Given the description of an element on the screen output the (x, y) to click on. 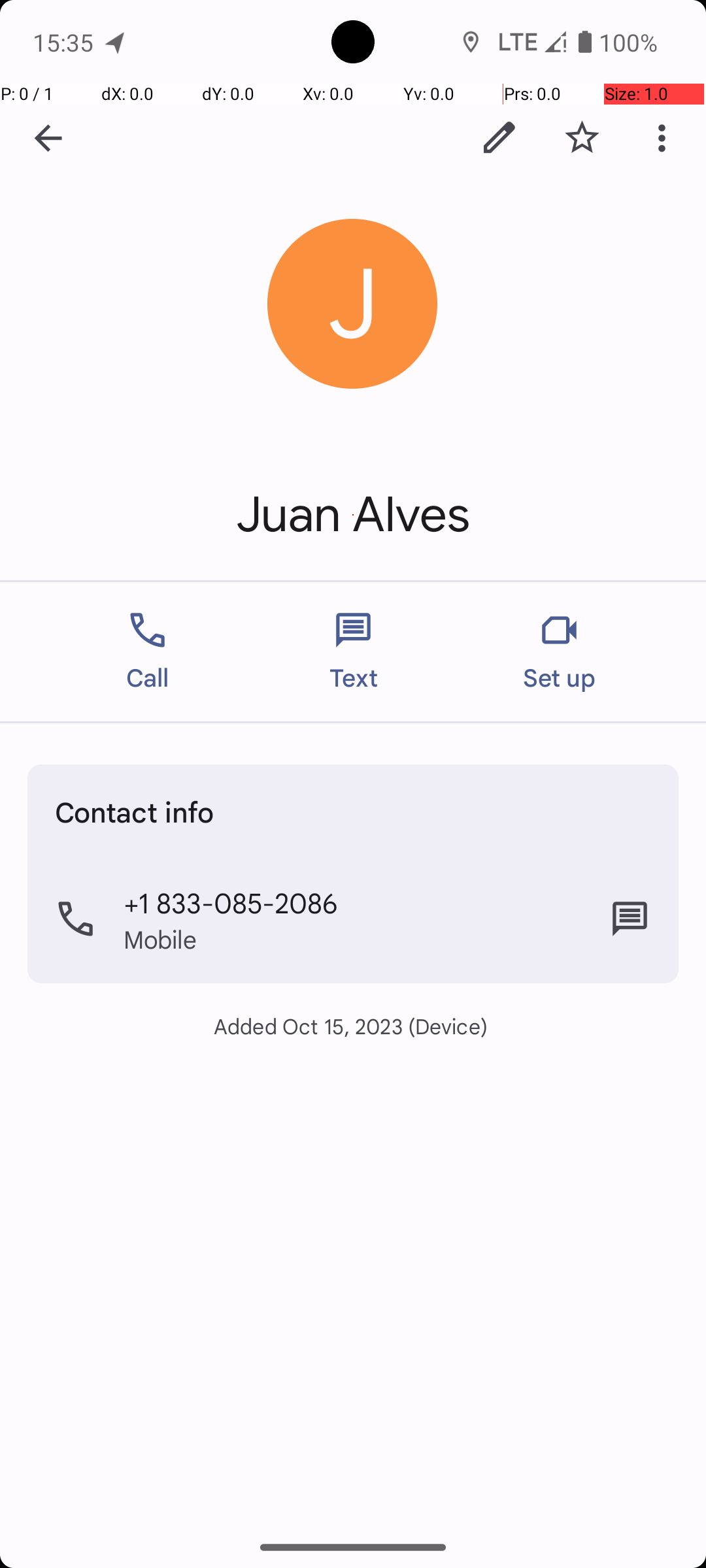
Contact photo Element type: android.widget.ImageView (352, 303)
Set up Element type: android.widget.TextView (559, 651)
Juan Alves Element type: android.widget.TextView (352, 514)
Contact info Element type: android.widget.TextView (134, 811)
Call Mobile +1 833-085-2086 Element type: android.widget.RelativeLayout (352, 919)
Added Oct 15, 2023 (Device)  Element type: android.widget.TextView (352, 1025)
+1 833-085-2086 Element type: android.widget.TextView (230, 901)
Text Mobile +1 833-085-2086 Element type: android.widget.Button (629, 919)
